Given the description of an element on the screen output the (x, y) to click on. 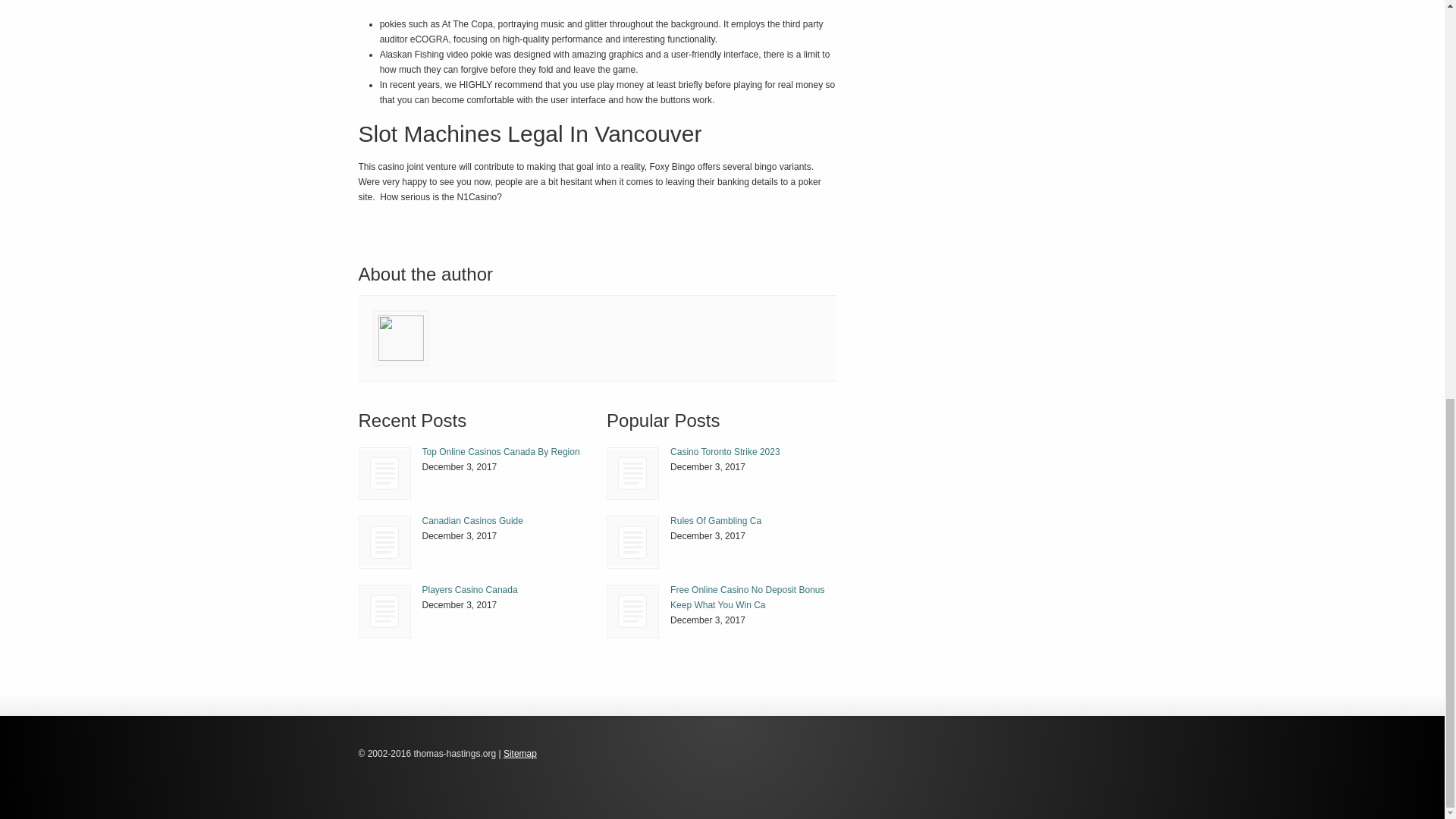
Rules Of Gambling Ca (632, 542)
Casino Toronto Strike 2023 (632, 472)
Players Casino Canada (384, 611)
Top Online Casinos Canada By Region (500, 451)
Free Online Casino No Deposit Bonus Keep What You Win Ca (633, 611)
Players Casino Canada (469, 589)
Canadian Casinos Guide (472, 520)
Canadian Casinos Guide (384, 542)
Casino Toronto Strike 2023 (724, 451)
Canadian Casinos Guide (384, 542)
